Given the description of an element on the screen output the (x, y) to click on. 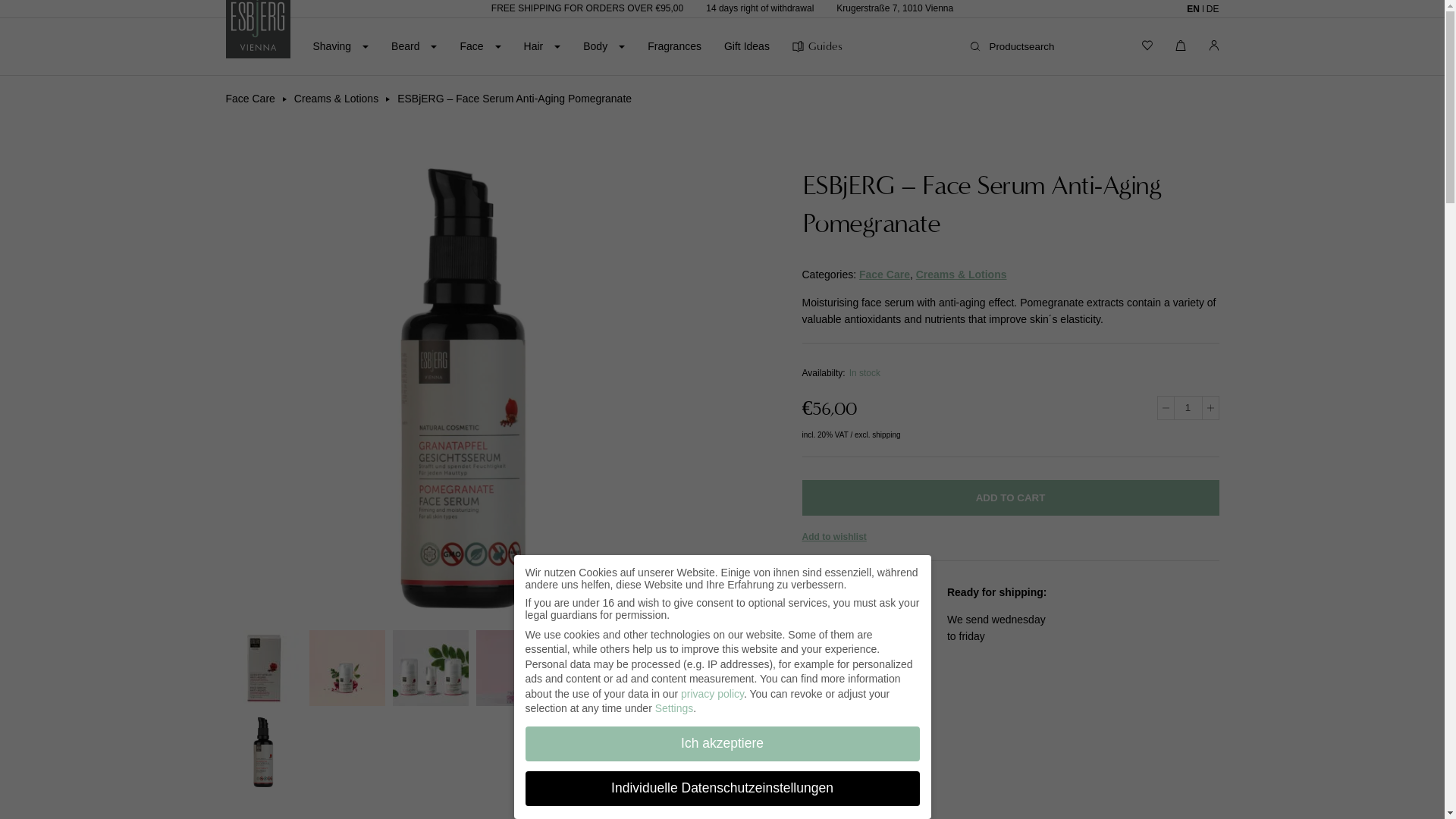
Shaving (337, 46)
DE (1211, 8)
Body (600, 46)
Beard (410, 46)
Face (477, 46)
Guides (817, 46)
OLYMPUS DIGITAL CAMERA (263, 751)
1 (1187, 407)
Gift Ideas (746, 46)
esbjerg-gesichtsserum-granatapfel-psckung (263, 667)
Face Care (250, 98)
Hair (539, 46)
Fragrances (674, 46)
